Given the description of an element on the screen output the (x, y) to click on. 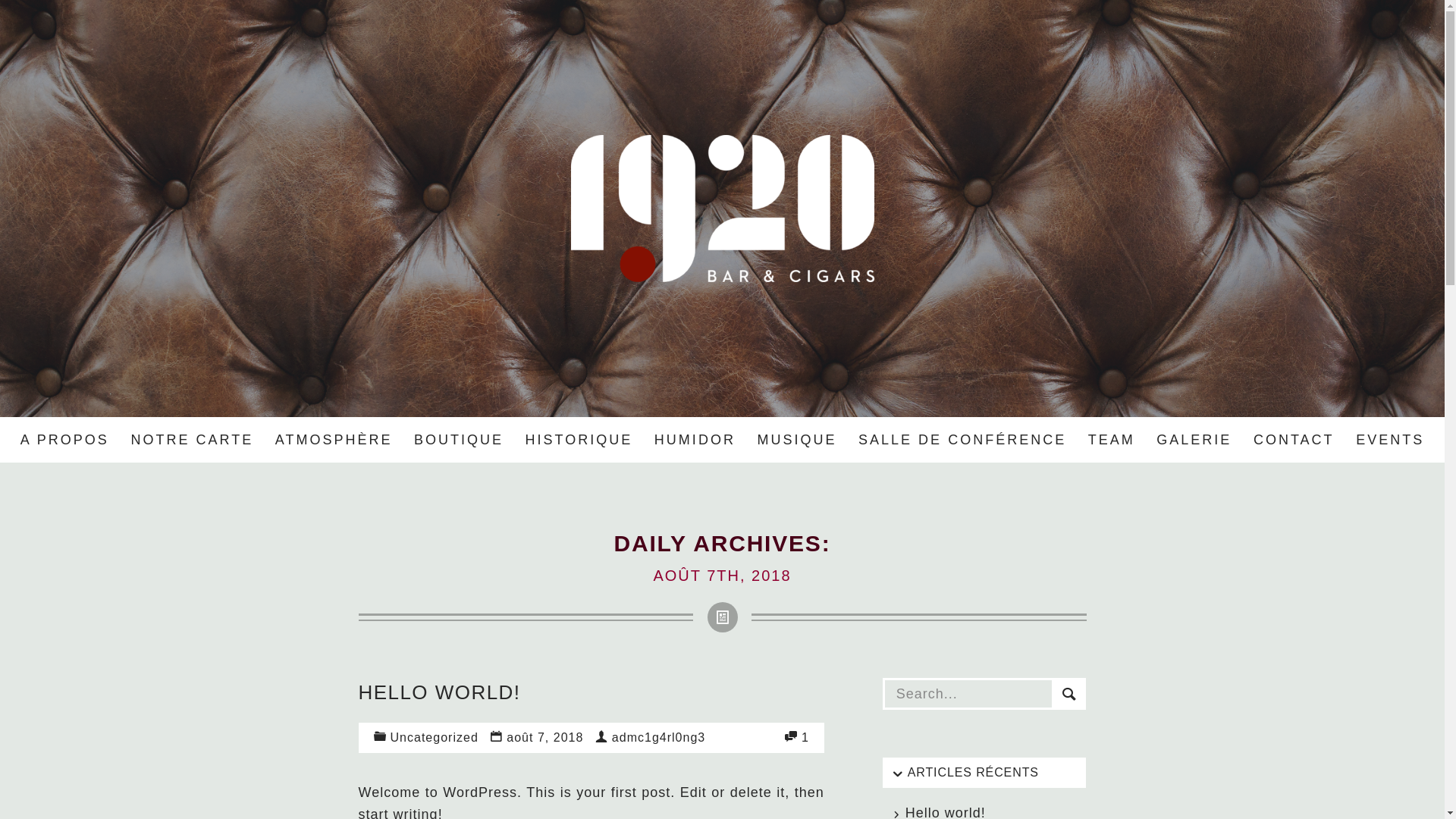
TEAM Element type: text (1110, 439)
BOUTIQUE Element type: text (458, 439)
CONTACT Element type: text (1293, 439)
HELLO WORLD! Element type: text (438, 691)
MUSIQUE Element type: text (796, 439)
HUMIDOR Element type: text (694, 439)
A PROPOS Element type: text (64, 439)
1920 Cigar Lounge Element type: text (721, 208)
1 Element type: text (803, 737)
EVENTS Element type: text (1390, 439)
NOTRE CARTE Element type: text (191, 439)
HISTORIQUE Element type: text (578, 439)
GALERIE Element type: text (1193, 439)
admc1g4rl0ng3 Element type: text (656, 737)
Uncategorized Element type: text (432, 737)
